Given the description of an element on the screen output the (x, y) to click on. 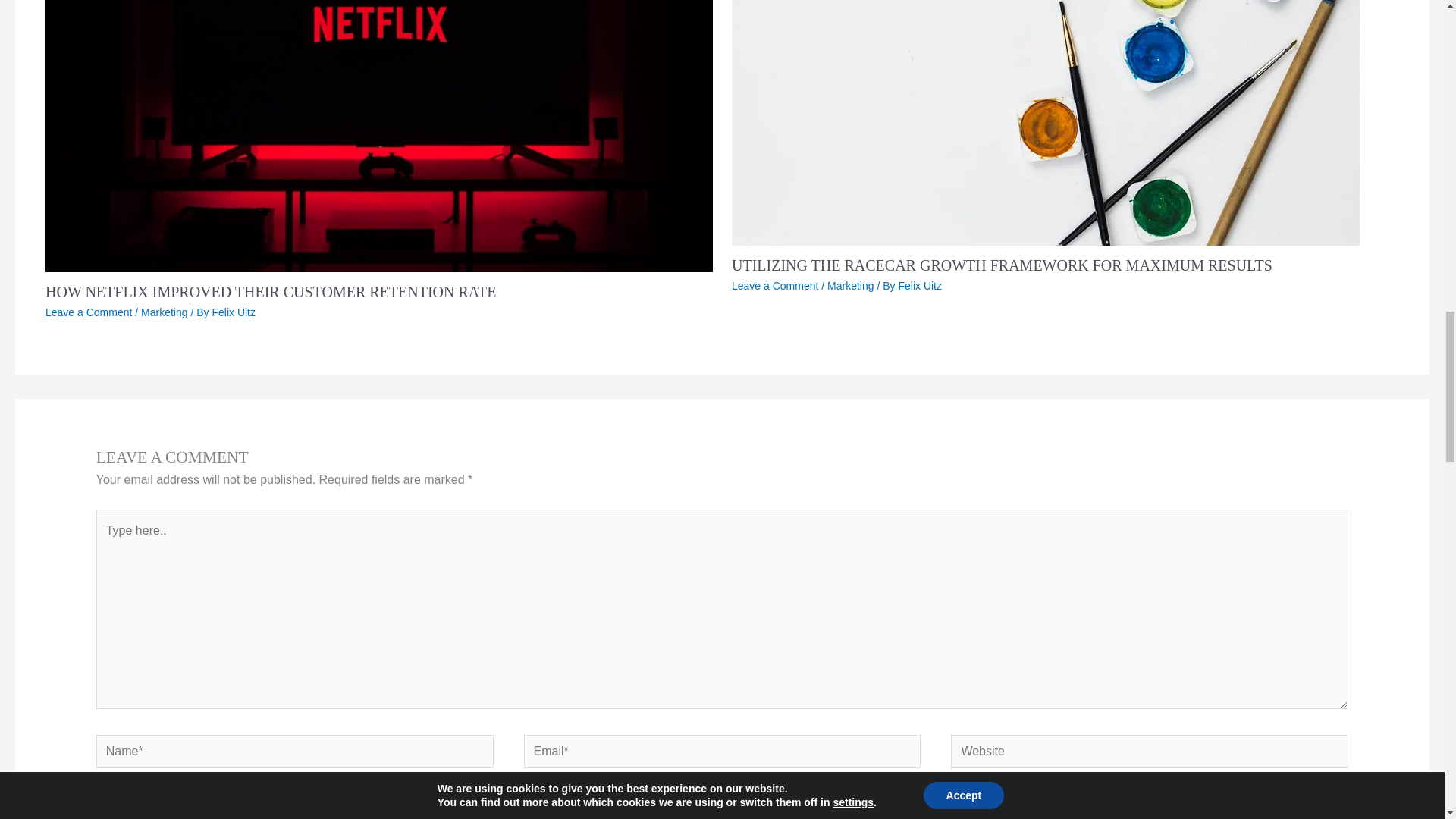
Felix Uitz (920, 285)
HOW NETFLIX IMPROVED THEIR CUSTOMER RETENTION RATE (270, 291)
View all posts by Felix Uitz (233, 312)
Marketing (850, 285)
UTILIZING THE RACECAR GROWTH FRAMEWORK FOR MAXIMUM RESULTS (1002, 265)
Marketing (164, 312)
Felix Uitz (233, 312)
View all posts by Felix Uitz (920, 285)
Leave a Comment (775, 285)
Leave a Comment (88, 312)
